Given the description of an element on the screen output the (x, y) to click on. 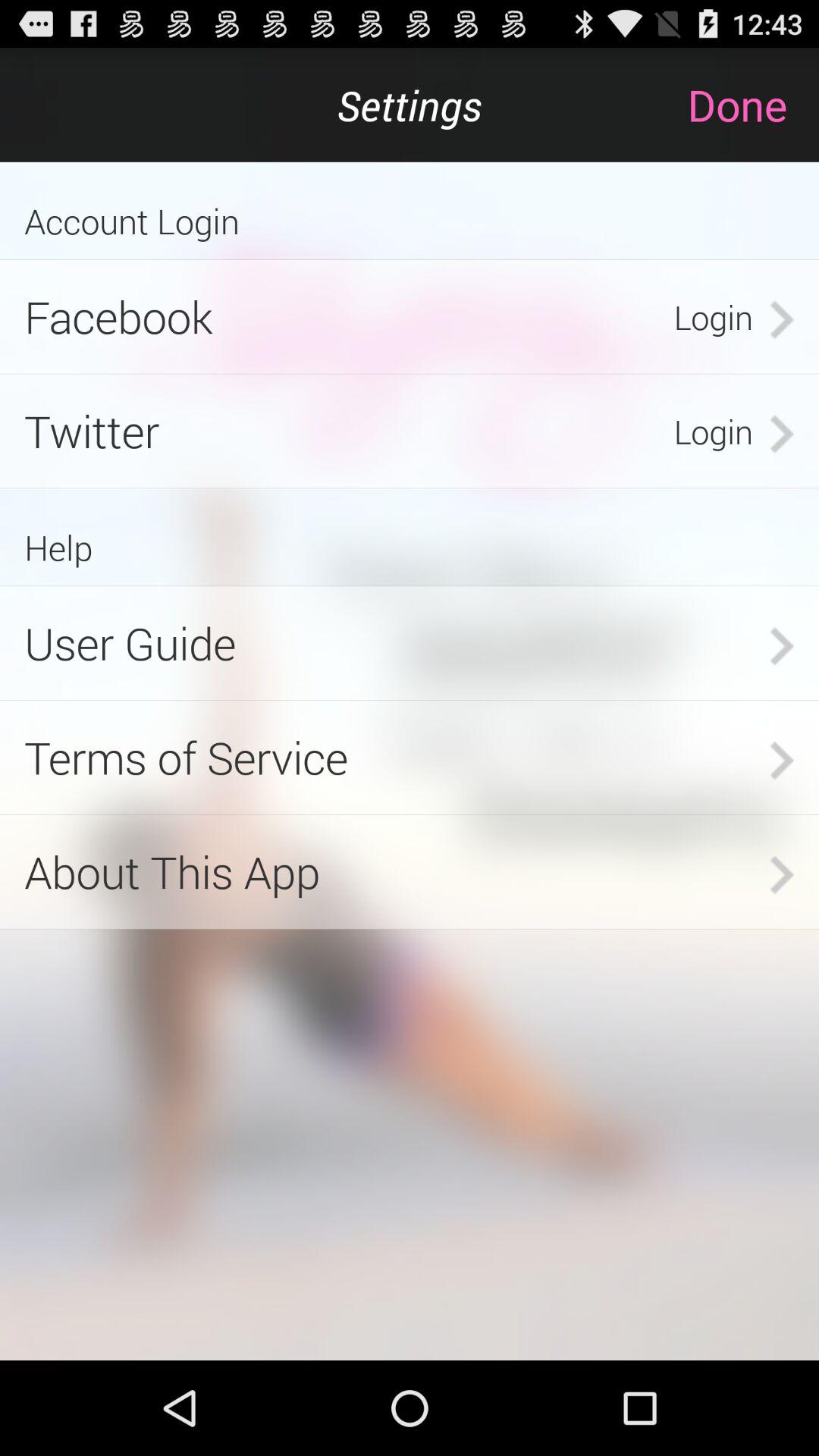
click on done at top right (752, 104)
